Given the description of an element on the screen output the (x, y) to click on. 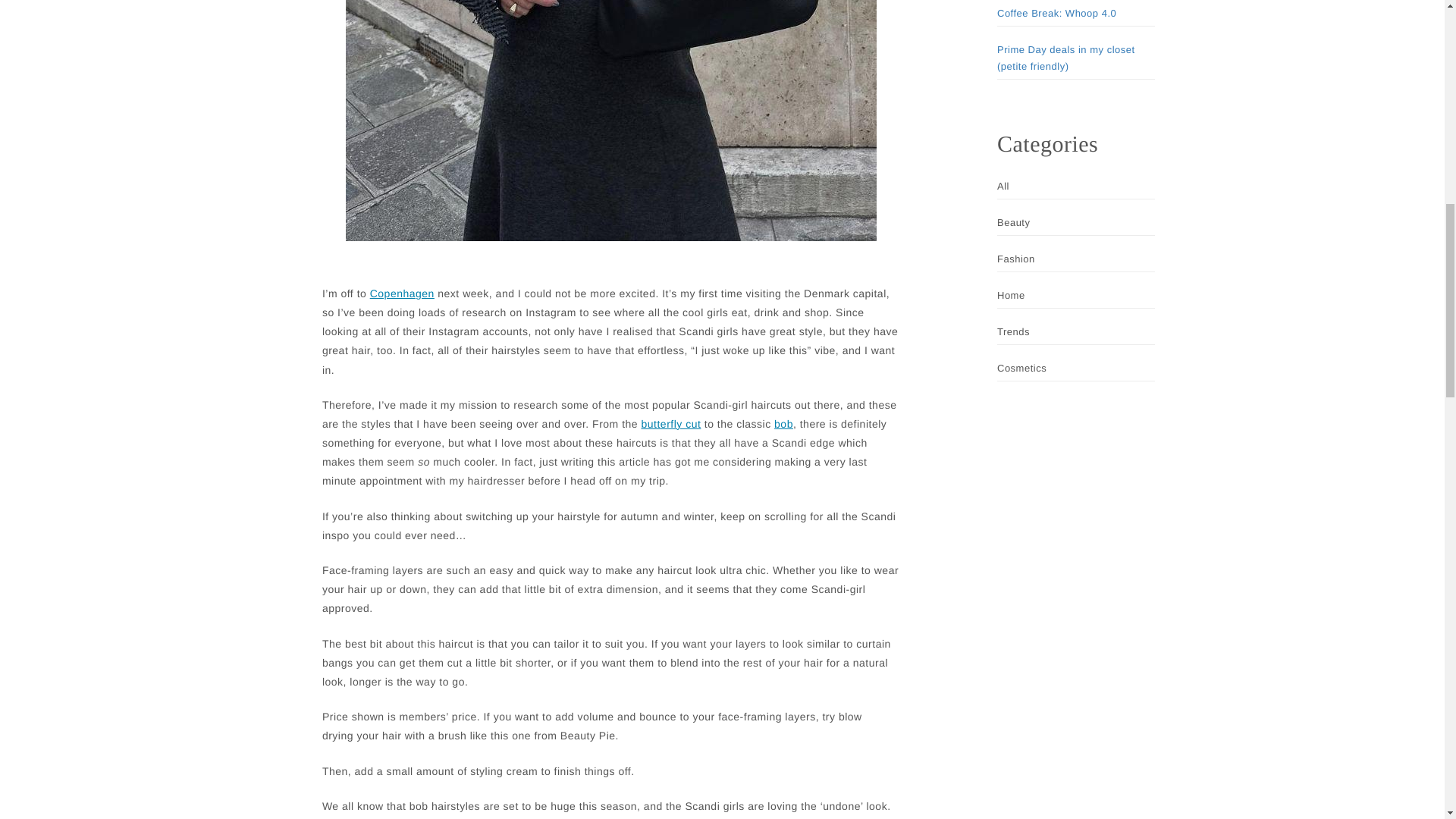
bob (783, 424)
butterfly cut (671, 424)
Copenhagen (401, 293)
